Given the description of an element on the screen output the (x, y) to click on. 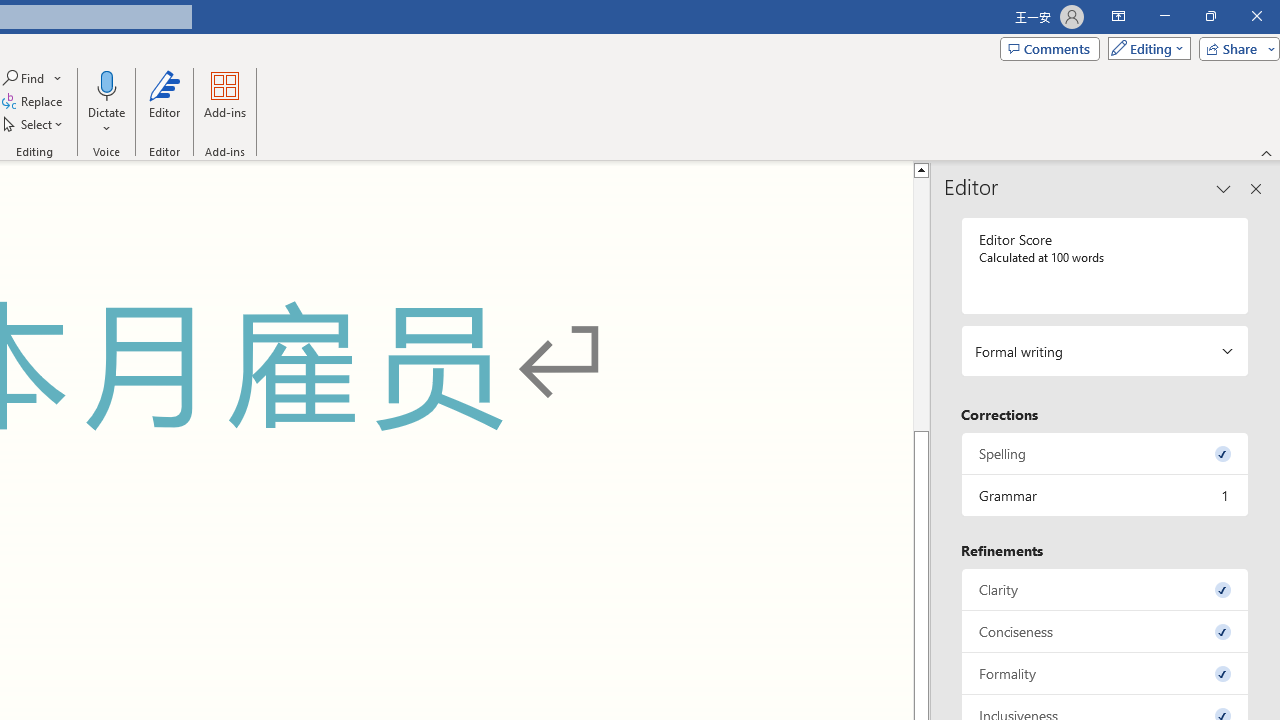
Grammar, 1 issue. Press space or enter to review items. (1105, 495)
Conciseness, 0 issues. Press space or enter to review items. (1105, 631)
Page up (921, 304)
Editing (1144, 47)
Spelling, 0 issues. Press space or enter to review items. (1105, 452)
